Given the description of an element on the screen output the (x, y) to click on. 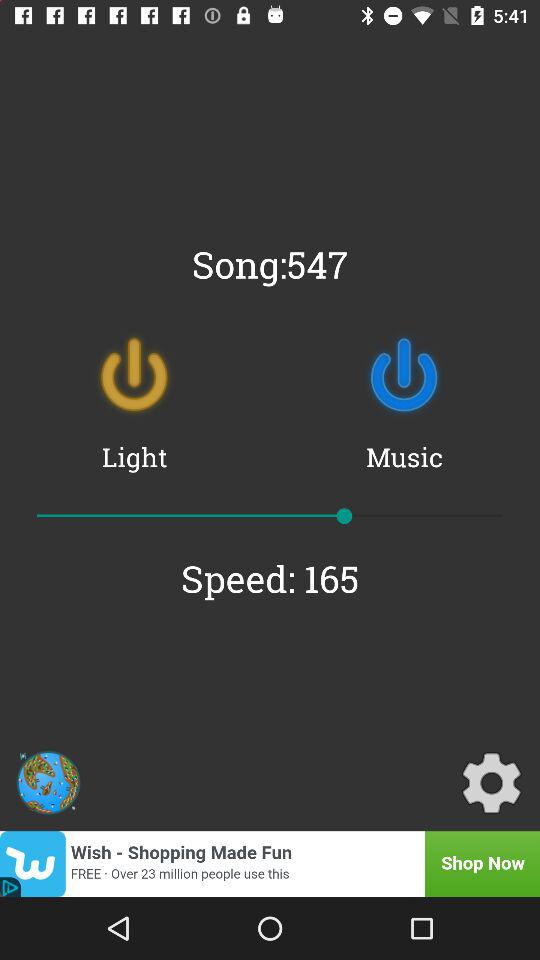
turn on the item at the top (270, 264)
